Given the description of an element on the screen output the (x, y) to click on. 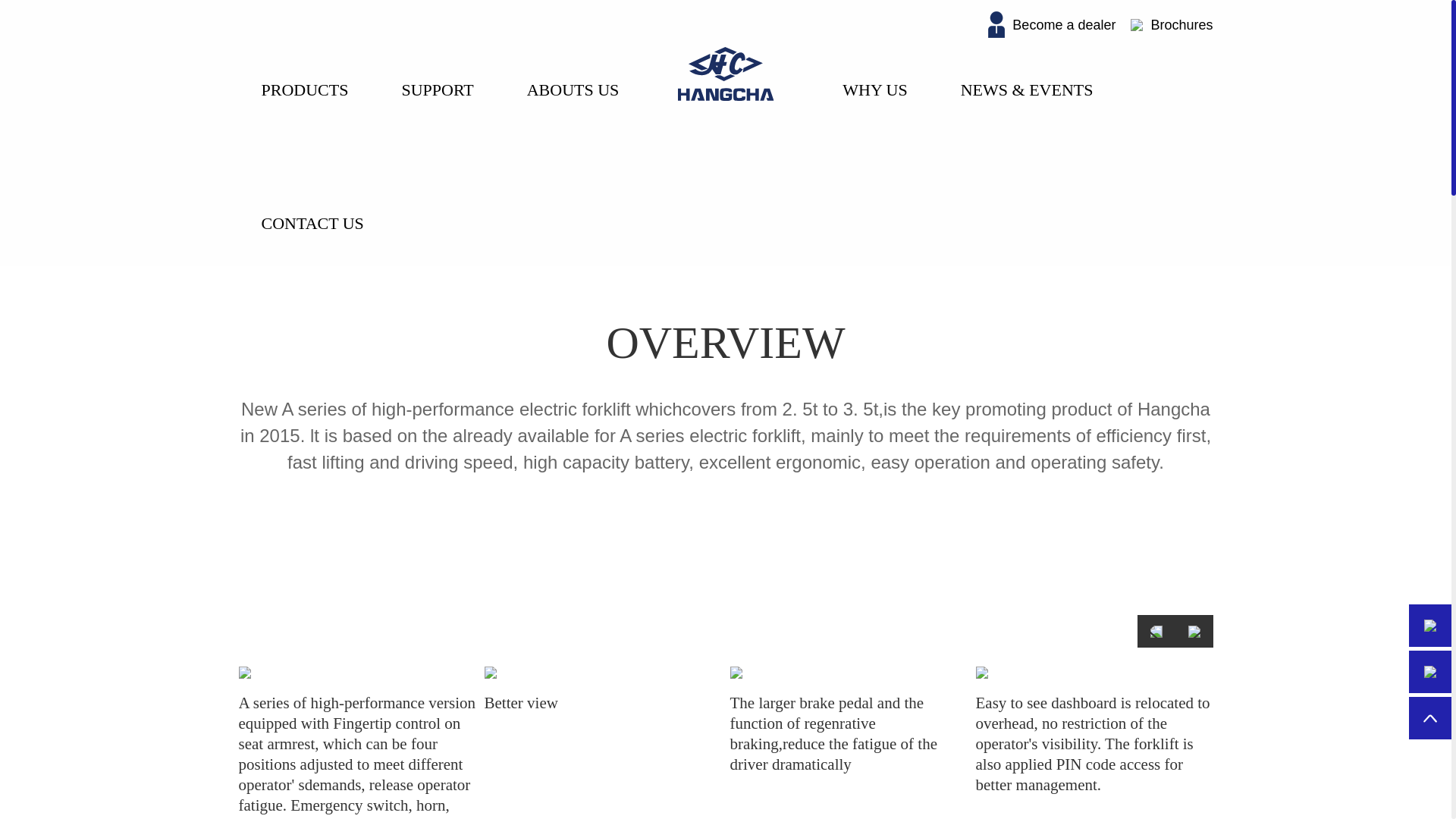
ABOUTS US (577, 66)
Become a dealer (1051, 24)
Brochures (1171, 24)
CONTACT US (316, 199)
